Given the description of an element on the screen output the (x, y) to click on. 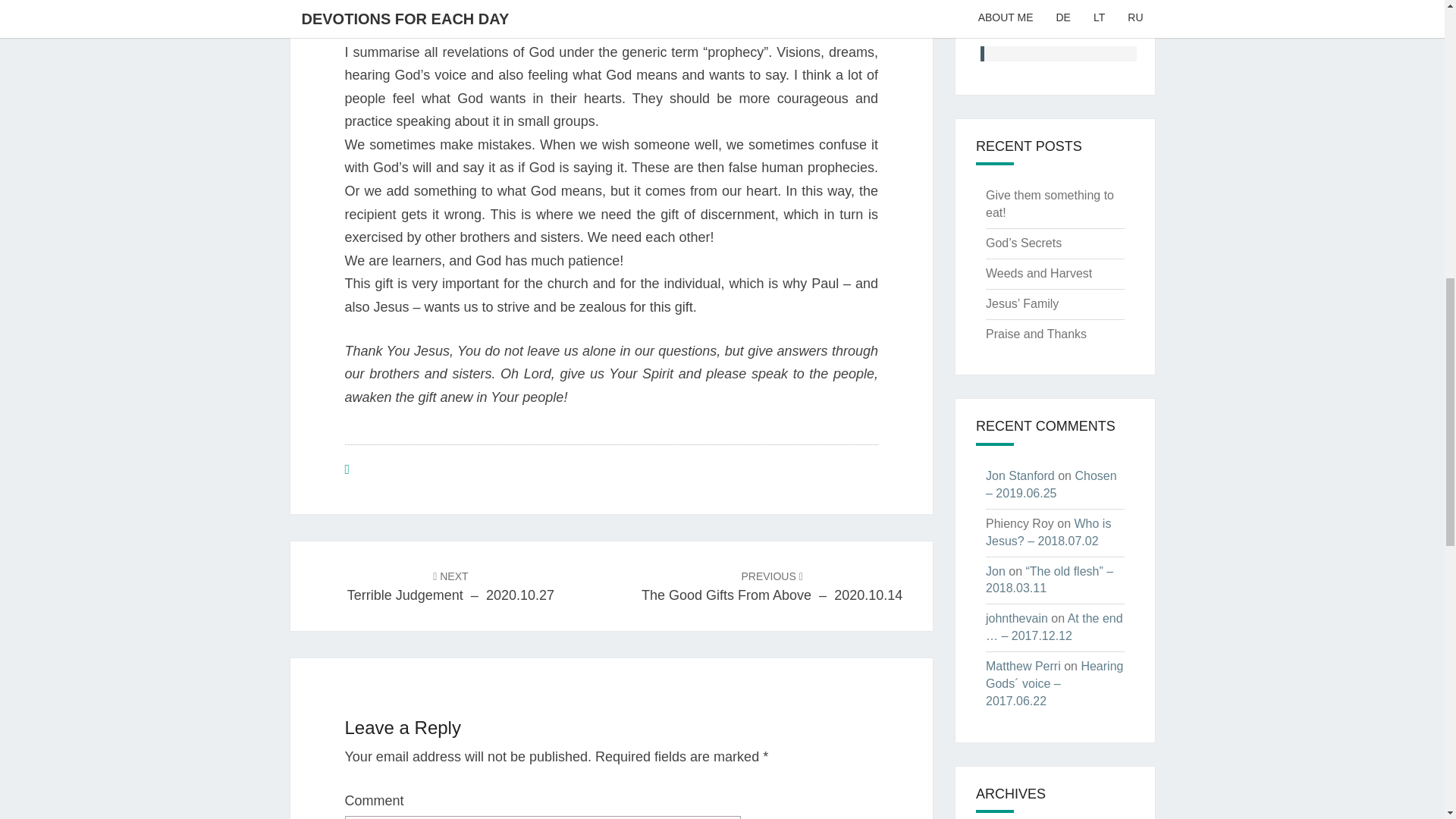
johnthevain (1016, 617)
Jon Stanford (1019, 475)
Weeds and Harvest (1038, 273)
Praise and Thanks (1035, 333)
Jon (995, 571)
Matthew Perri (1023, 666)
Give them something to eat! (1049, 204)
